Given the description of an element on the screen output the (x, y) to click on. 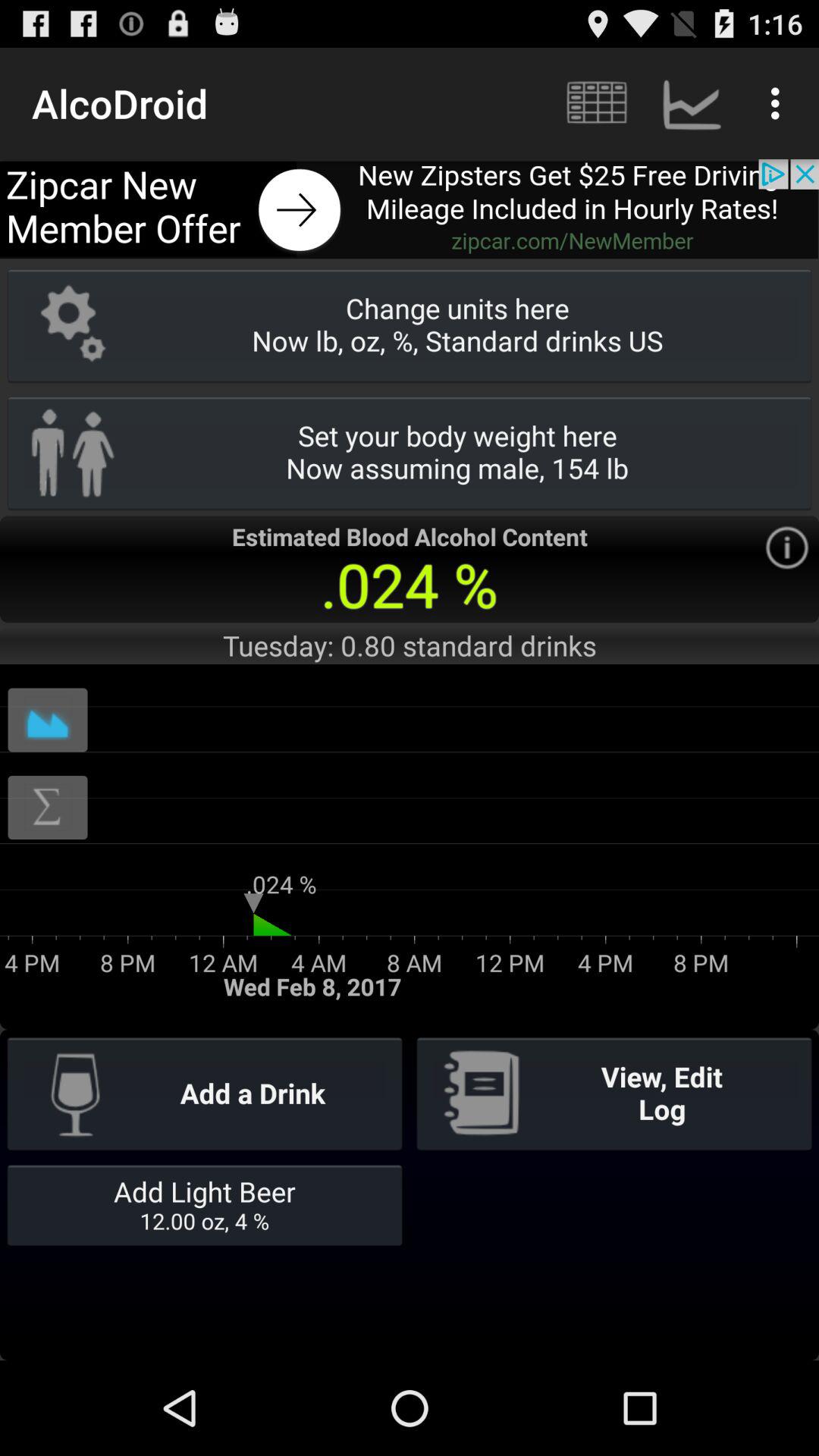
open advertisement (409, 208)
